Given the description of an element on the screen output the (x, y) to click on. 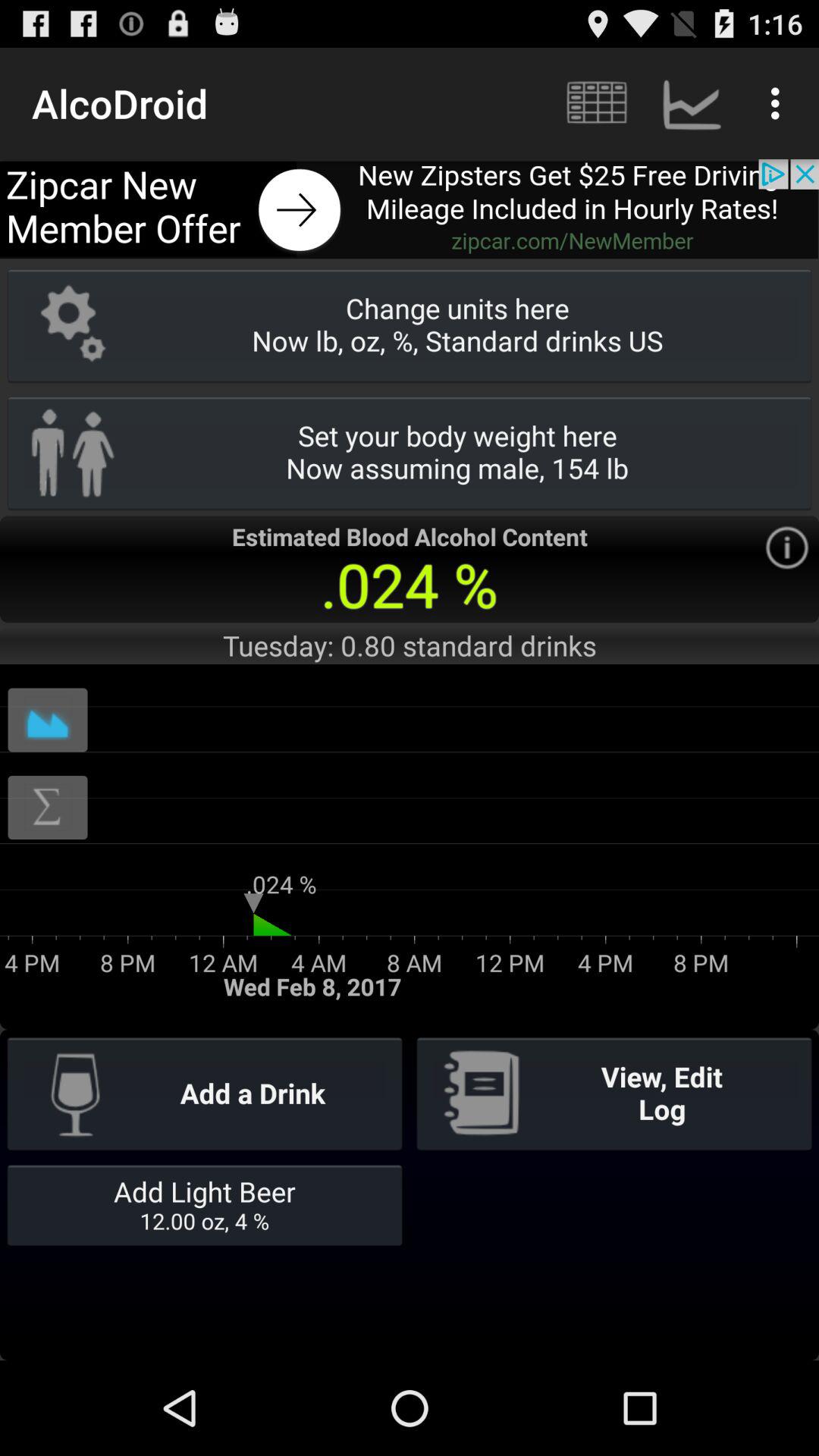
open advertisement (409, 208)
